Given the description of an element on the screen output the (x, y) to click on. 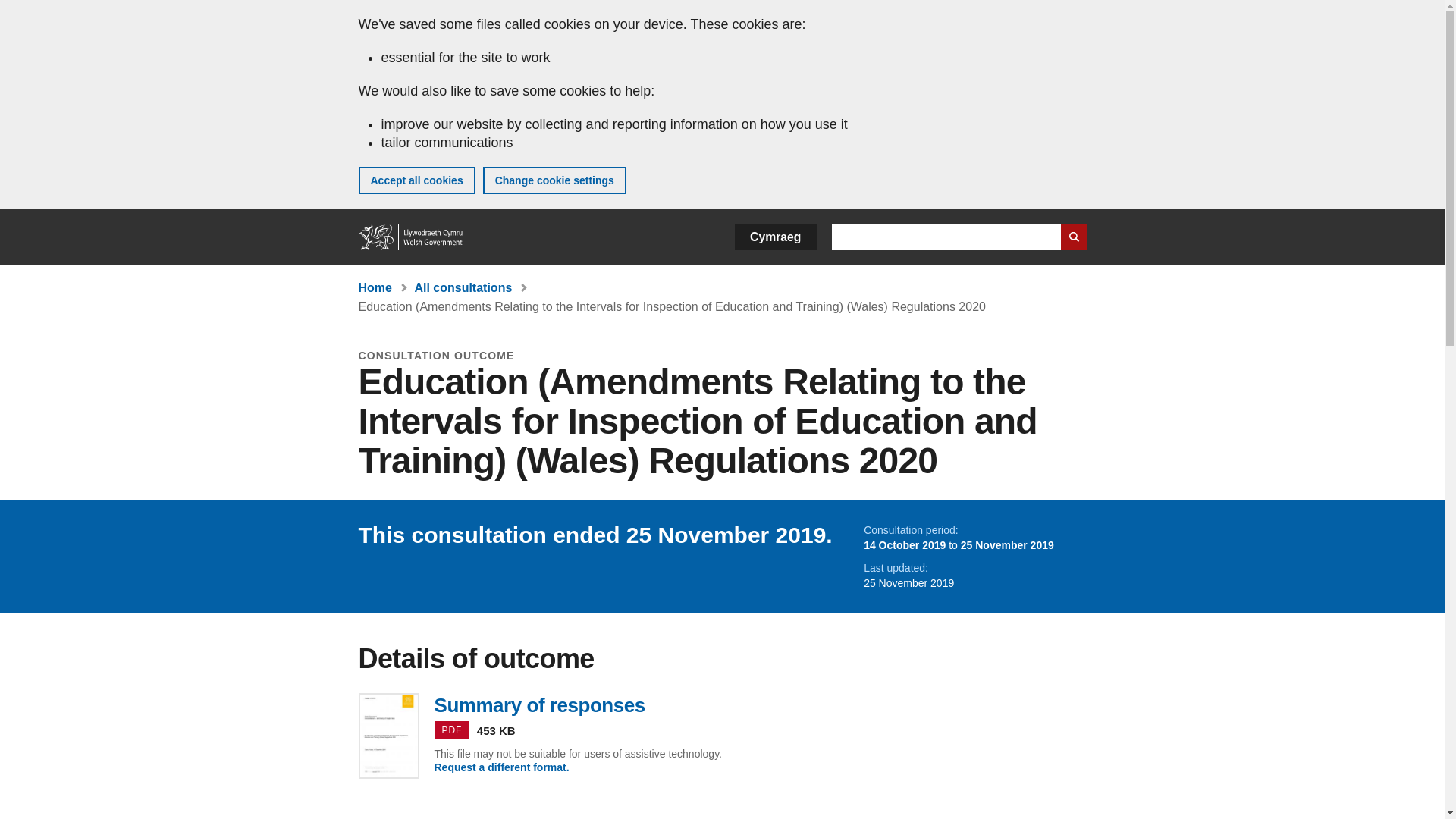
Welsh Government (411, 237)
Search website (1072, 237)
Home (374, 287)
Skip to main content (22, 11)
Home (411, 237)
All consultations (462, 287)
Change cookie settings (554, 180)
Request a different format. (501, 767)
Accept all cookies (416, 180)
Search website (1072, 237)
Cymraeg (775, 237)
